Given the description of an element on the screen output the (x, y) to click on. 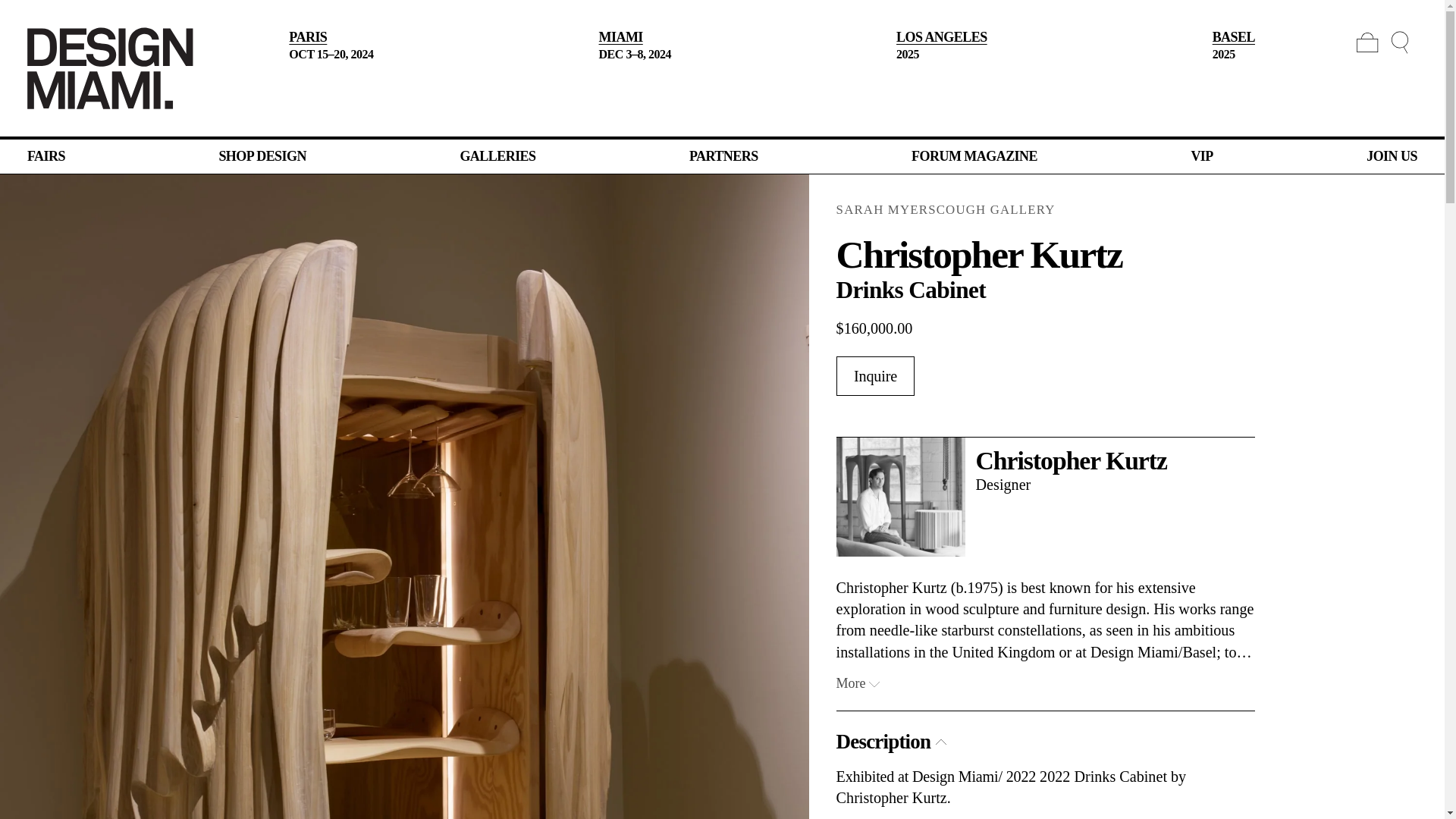
Description (890, 742)
JOIN US (1391, 156)
Skip to content (13, 13)
SHOP DESIGN (261, 156)
SARAH MYERSCOUGH GALLERY (1096, 209)
FORUM MAGAZINE (973, 156)
GALLERIES (497, 156)
More (858, 683)
Inquire (875, 375)
Design Miami (110, 67)
FAIRS (46, 156)
PARTNERS (723, 156)
Cart (1367, 42)
Open search form (1400, 42)
